Given the description of an element on the screen output the (x, y) to click on. 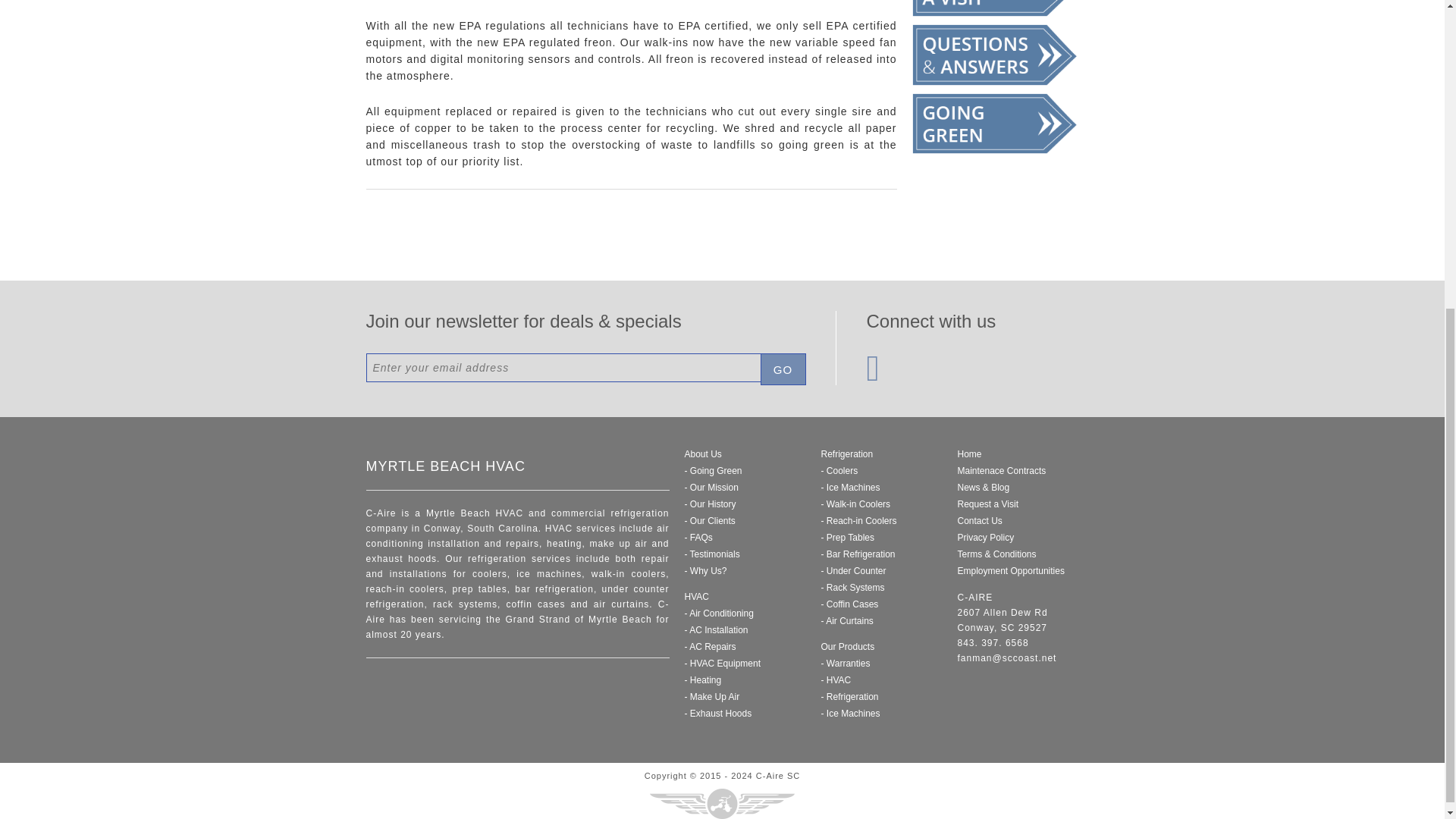
Client List (709, 520)
Mission Statement (711, 487)
GO (782, 368)
Refrigeration Company (709, 503)
Heating and Air Questions (697, 537)
HVAC Customers (711, 553)
Going Green (712, 470)
Air Conditioning (718, 613)
HVAC Services (695, 596)
Follow us on Facebook (872, 376)
